Given the description of an element on the screen output the (x, y) to click on. 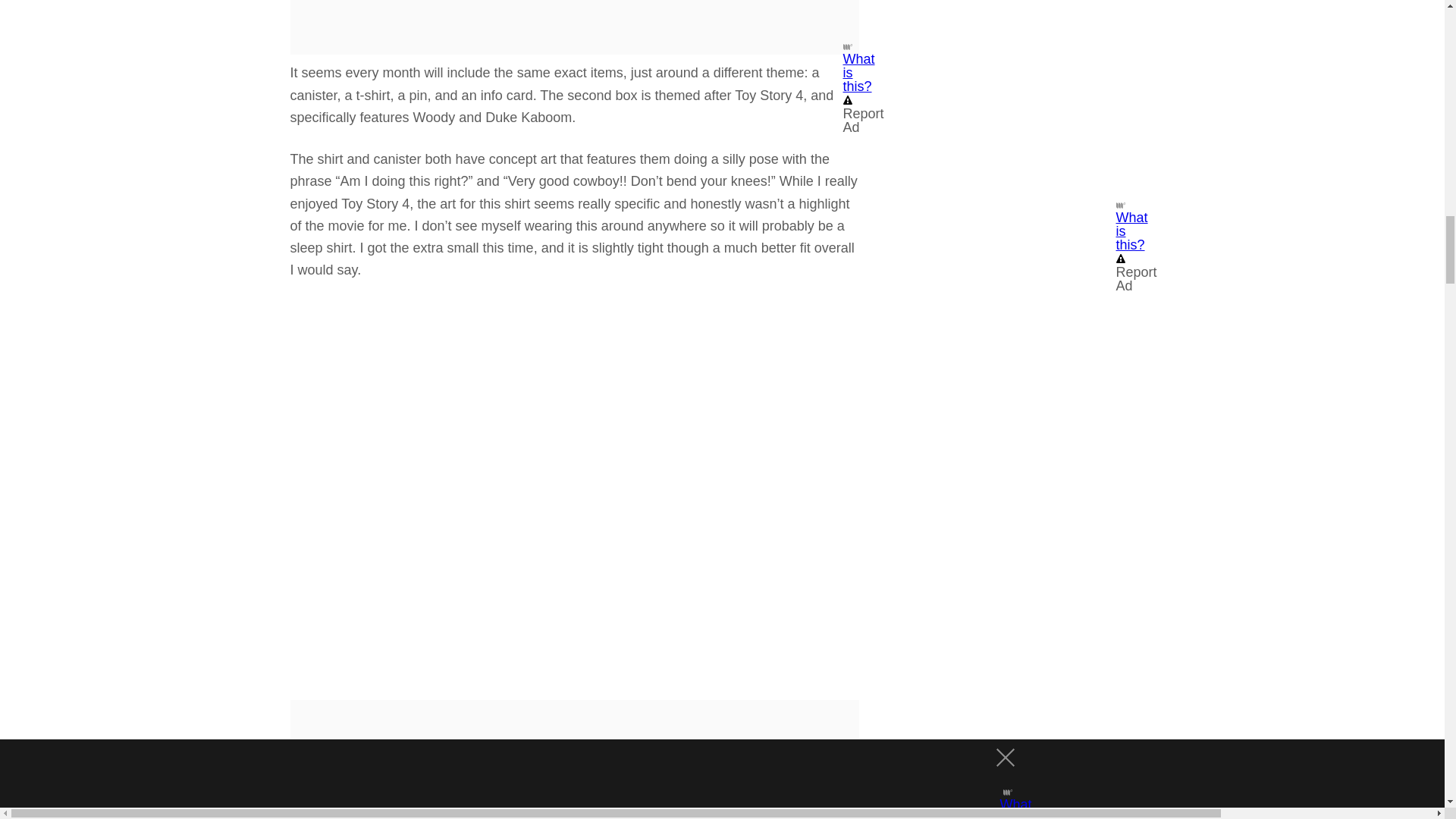
3rd party ad content (574, 759)
